Given the description of an element on the screen output the (x, y) to click on. 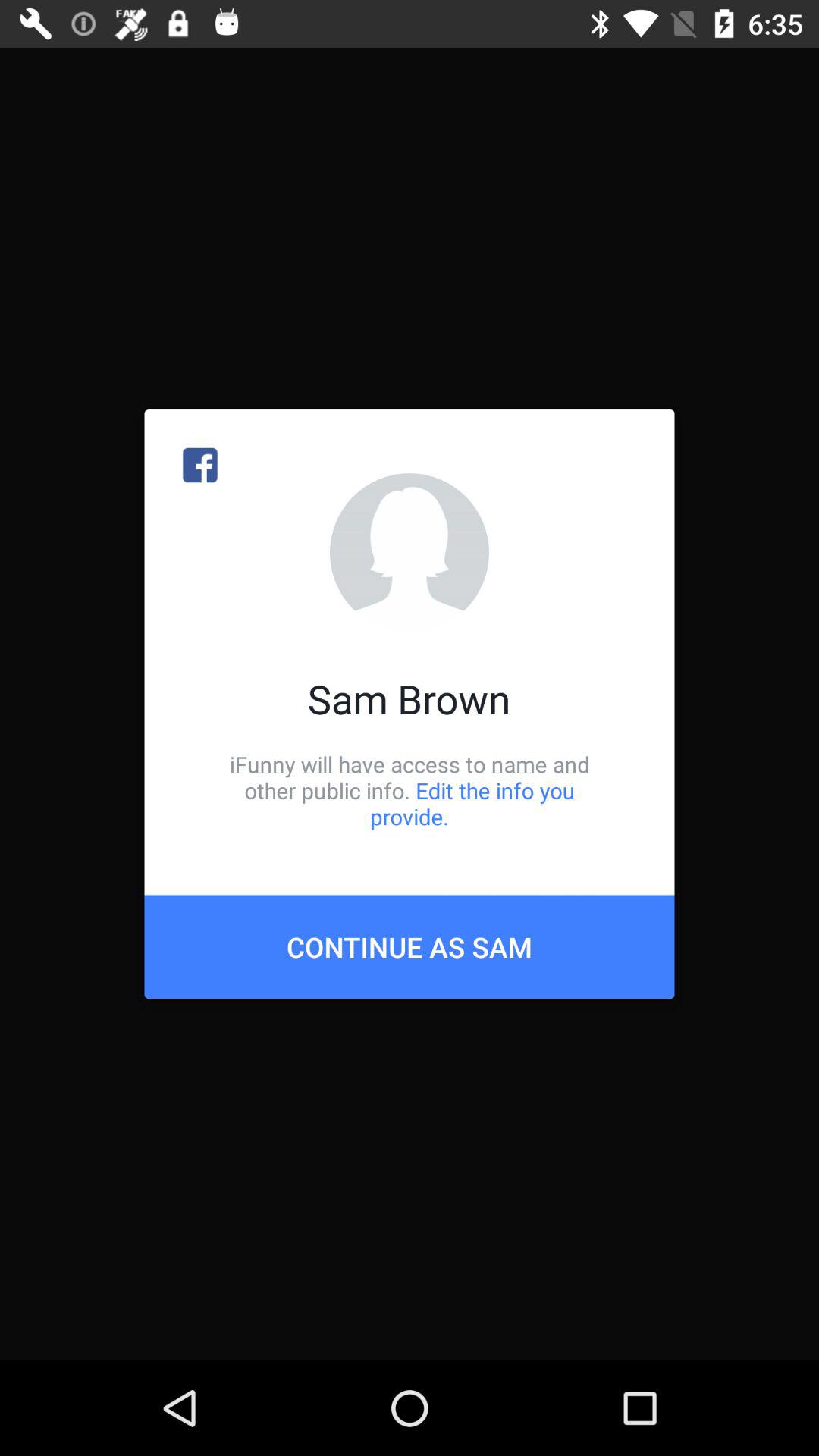
press the item below ifunny will have item (409, 946)
